Given the description of an element on the screen output the (x, y) to click on. 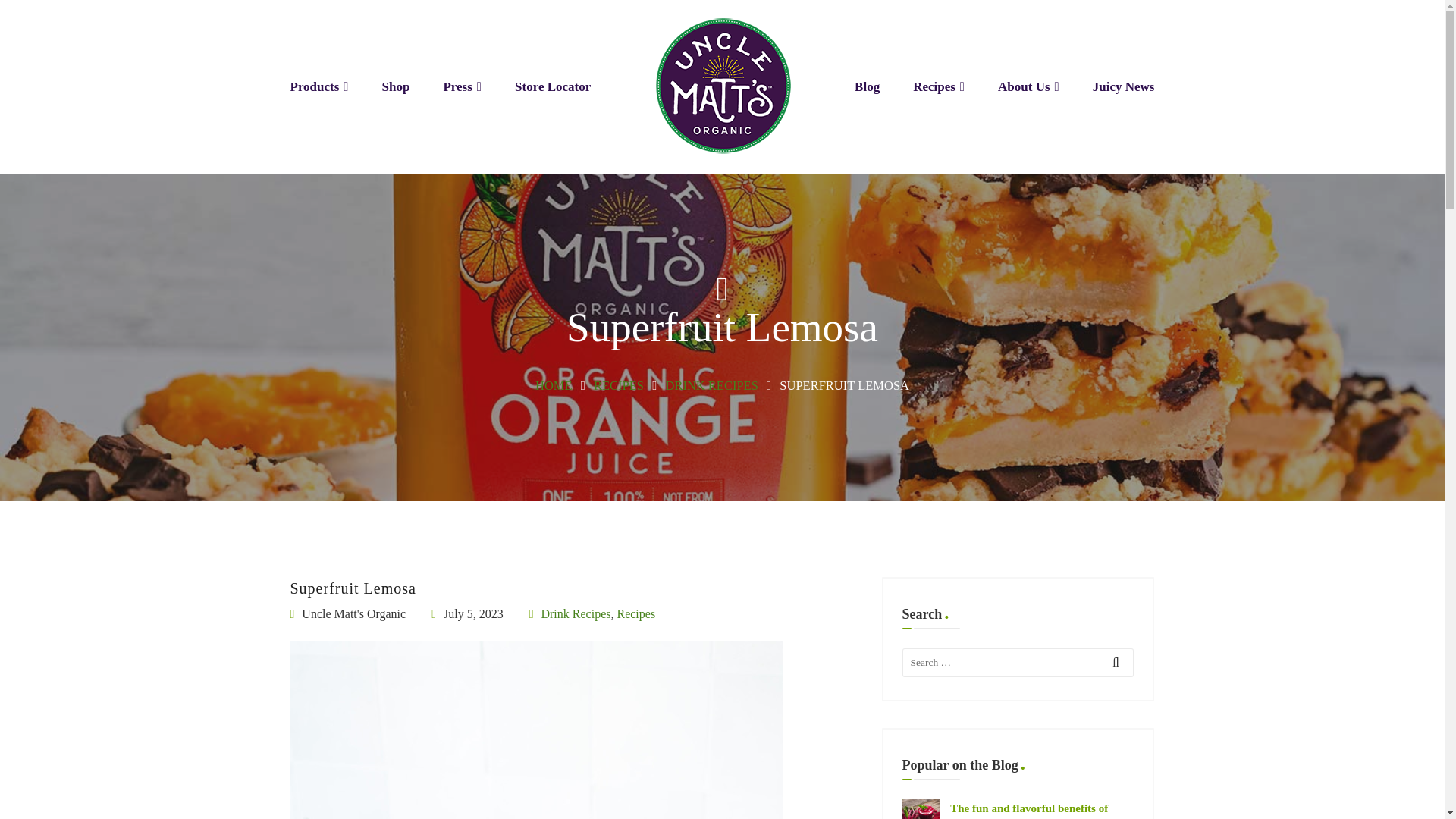
Blog (866, 86)
Press (461, 86)
Recipes (937, 86)
Post in category (592, 614)
Store Locator (553, 86)
HOME (553, 385)
Shop (395, 86)
Products (318, 86)
RECIPES (618, 385)
Juicy News (1123, 86)
